Given the description of an element on the screen output the (x, y) to click on. 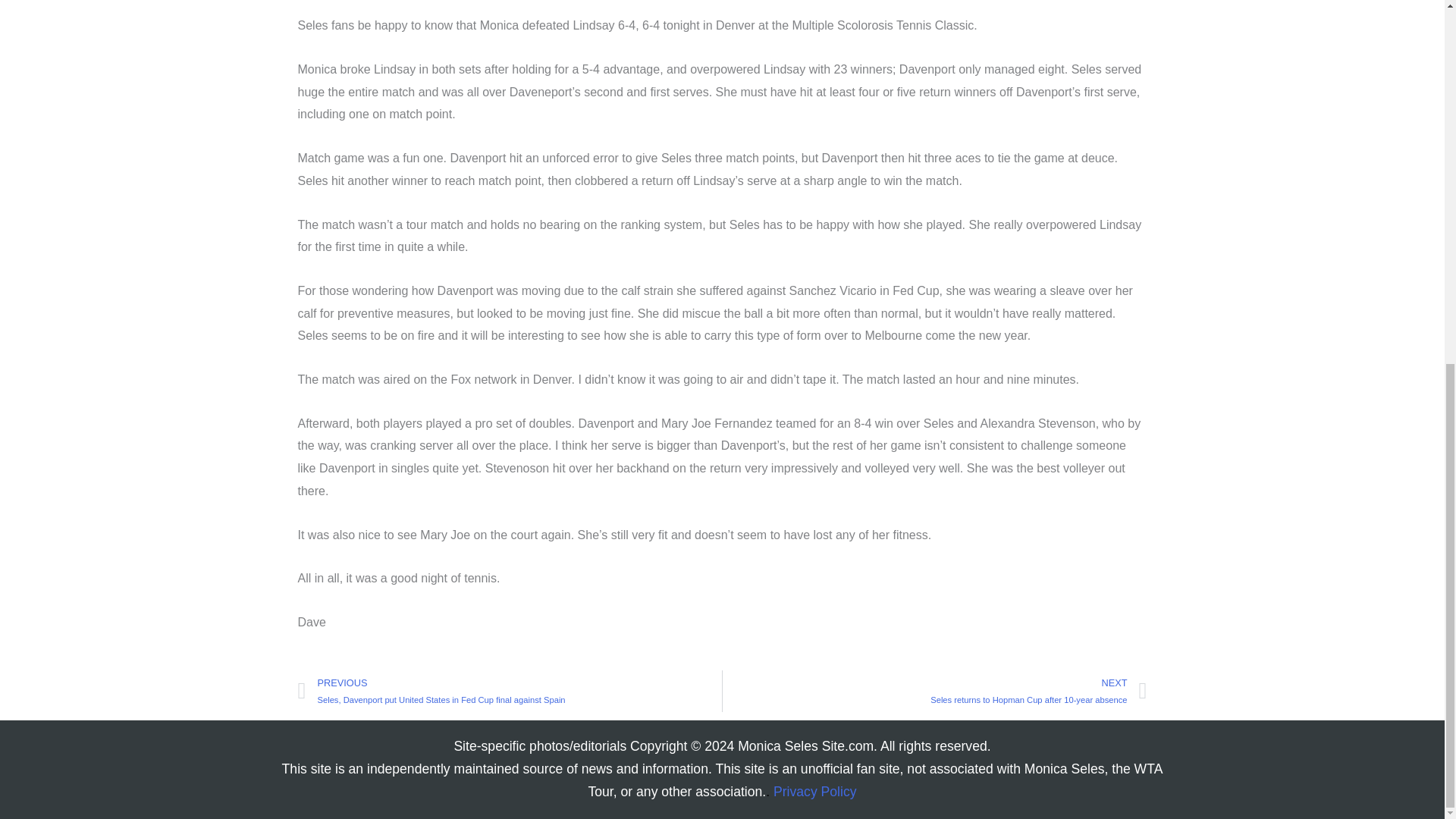
Privacy Policy (934, 691)
